Given the description of an element on the screen output the (x, y) to click on. 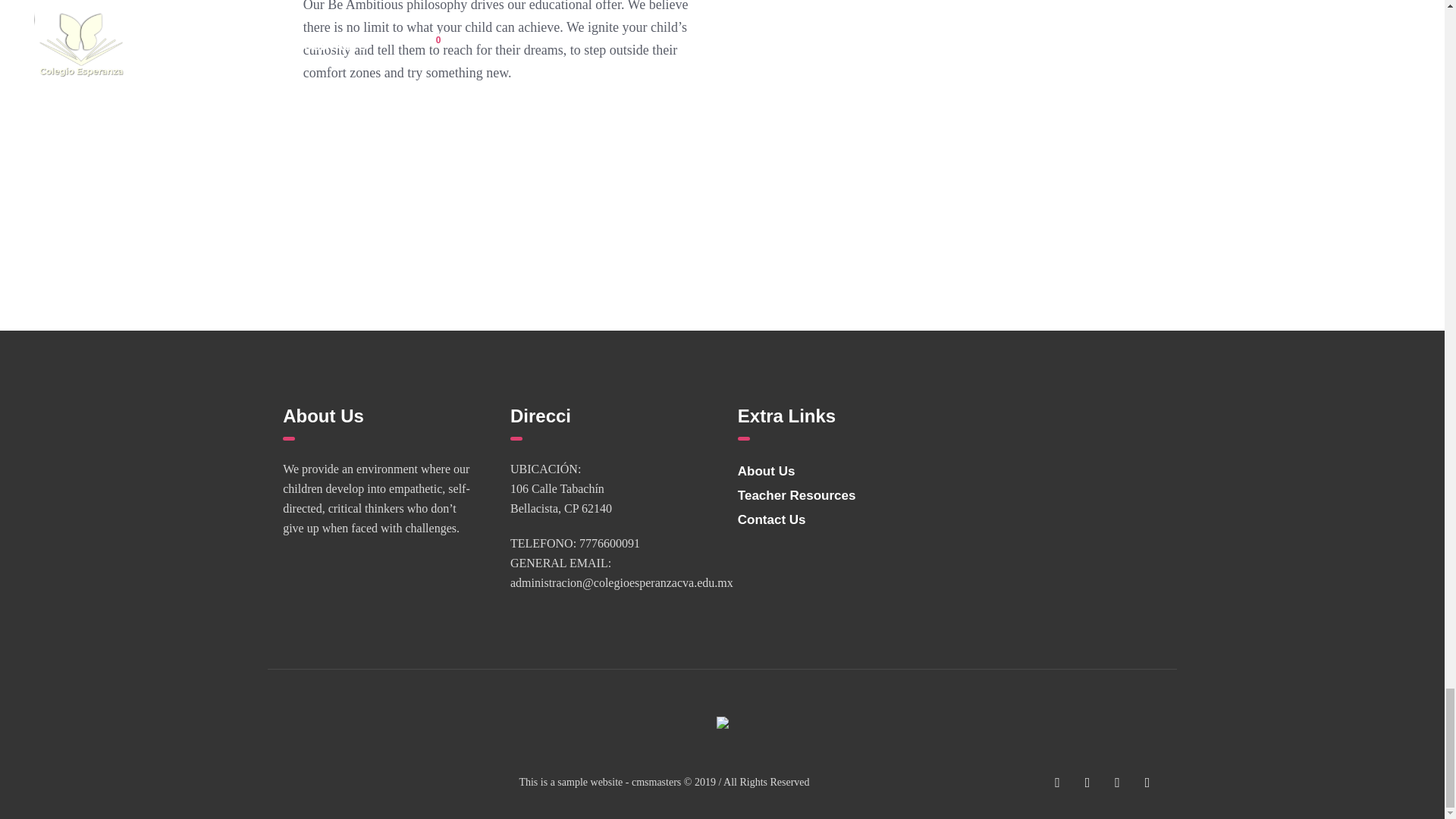
Contact Us (772, 519)
Facebook (1057, 782)
About Us (766, 471)
Teacher Resources (797, 495)
